Given the description of an element on the screen output the (x, y) to click on. 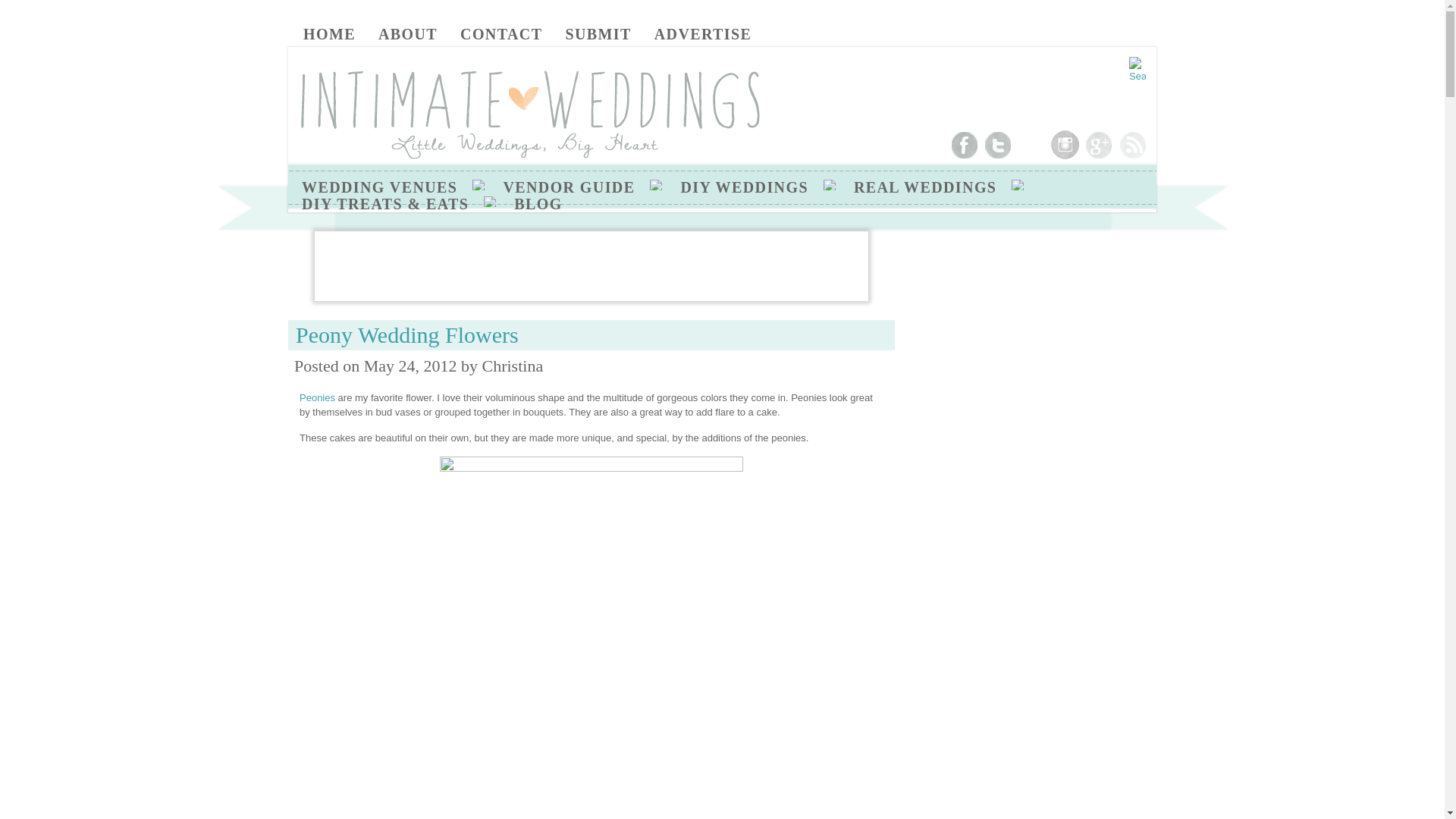
WEDDING VENUES (379, 187)
BLOG (537, 203)
VENDOR GUIDE (568, 187)
Peony Wedding Flowers (406, 334)
CONTACT (500, 33)
ADVERTISE (702, 33)
Peony Wedding Flowers (406, 334)
Peonies (316, 397)
ABOUT (408, 33)
